Given the description of an element on the screen output the (x, y) to click on. 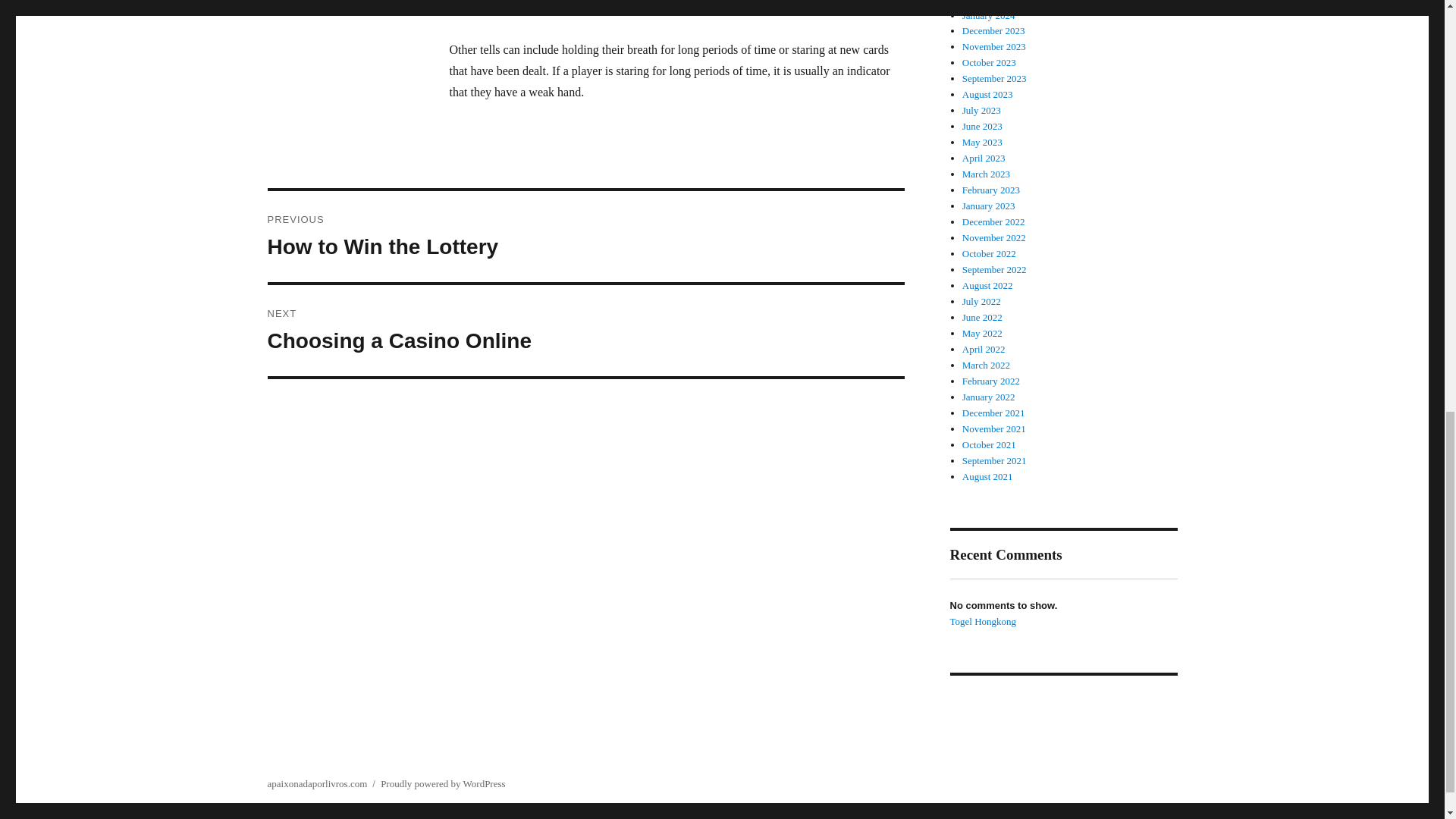
December 2022 (585, 330)
June 2023 (993, 221)
February 2023 (585, 235)
March 2023 (982, 125)
November 2022 (991, 189)
January 2023 (986, 173)
September 2023 (994, 237)
July 2023 (988, 205)
